Given the description of an element on the screen output the (x, y) to click on. 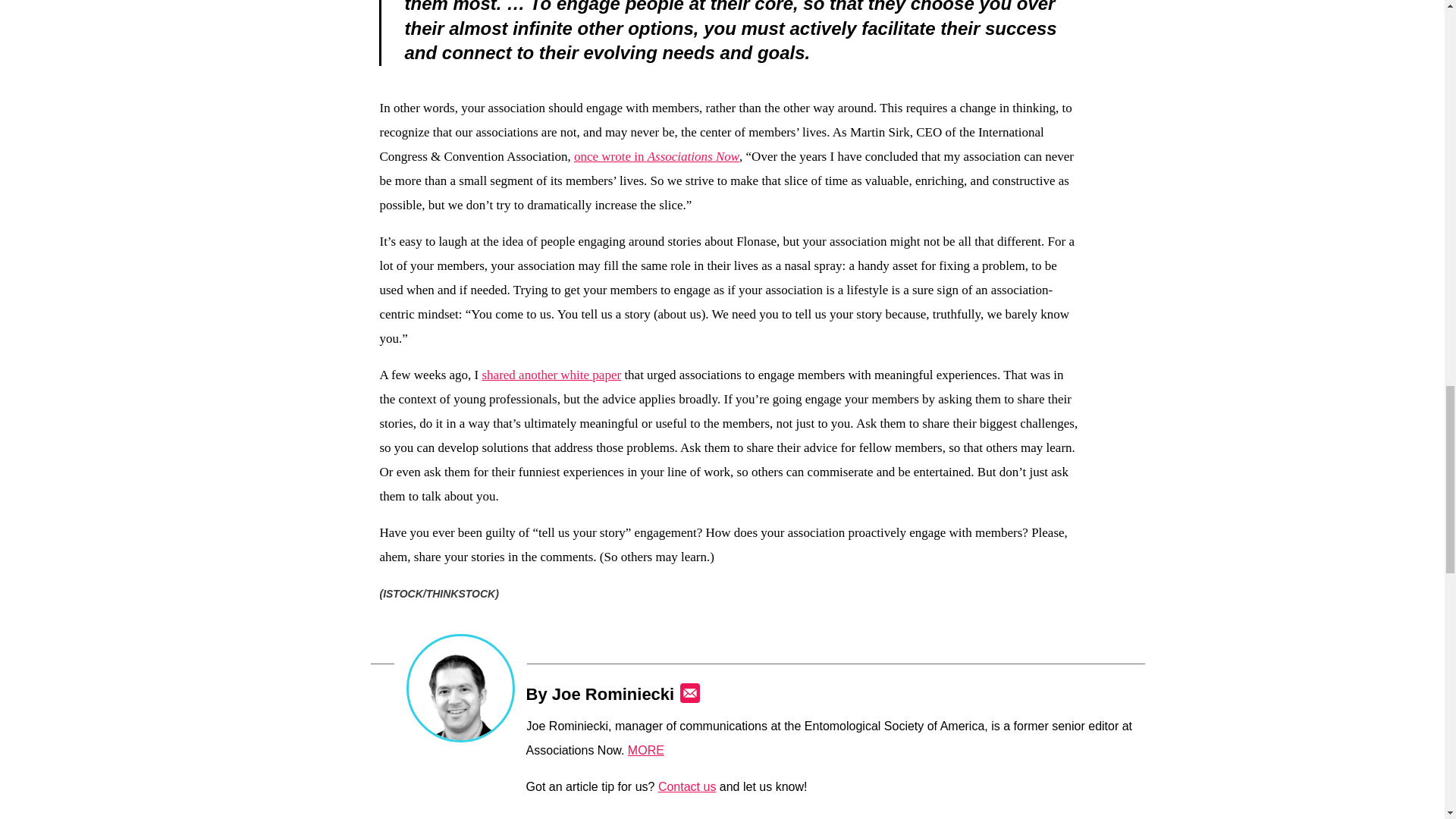
shared another white paper (551, 374)
Mail (689, 692)
Contact us (687, 786)
Email (689, 692)
once wrote in Associations Now (656, 156)
MORE (645, 749)
